Given the description of an element on the screen output the (x, y) to click on. 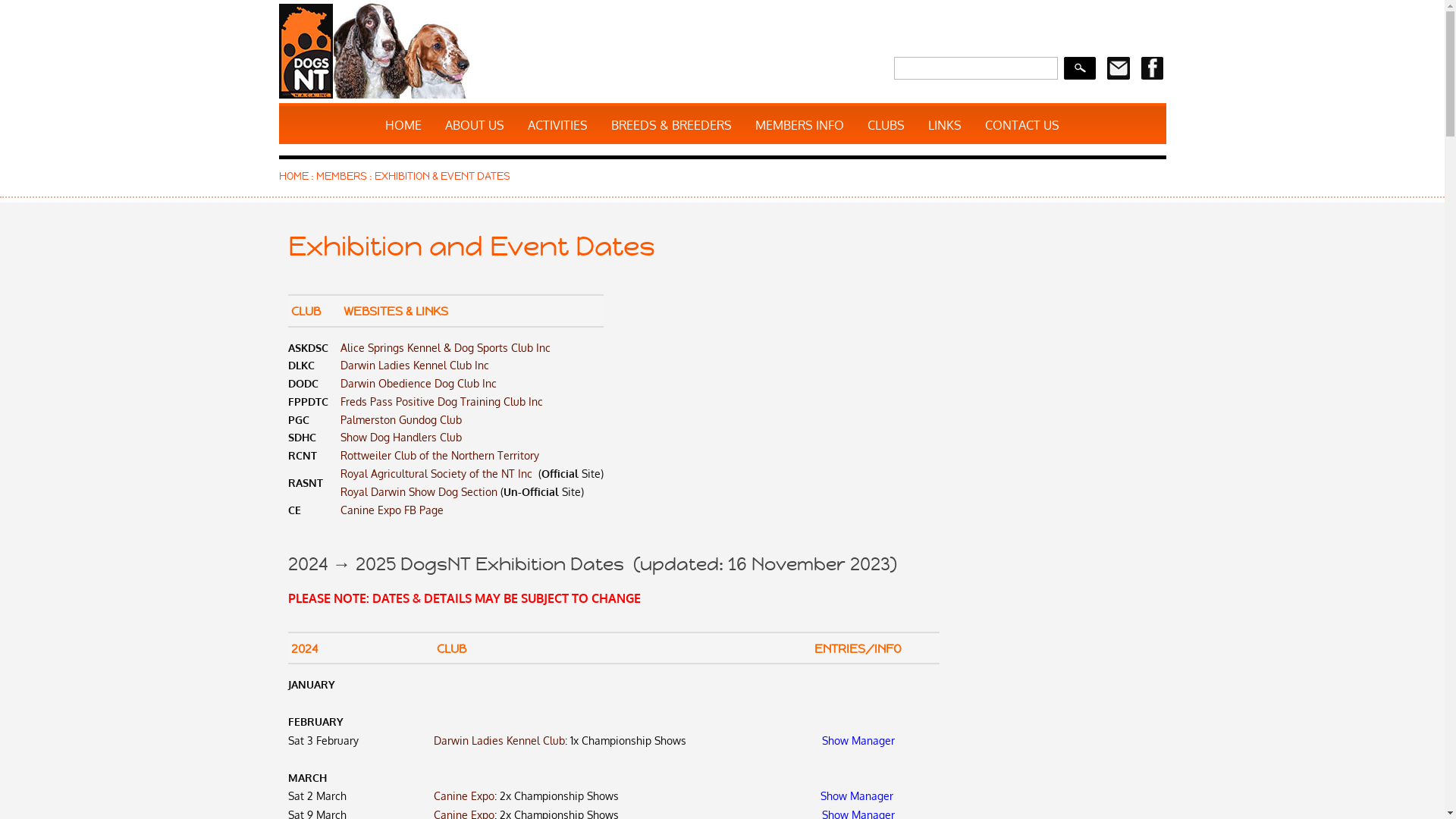
HOME Element type: text (403, 125)
Show Dog Handlers Club Element type: text (400, 436)
Royal Darwin Show Dog Section Element type: text (417, 491)
Alice Springs Kennel & Dog Sports Club Inc Element type: text (444, 347)
MEMBERS Element type: text (340, 175)
MEMBERS INFO Element type: text (799, 125)
Canine Expo Element type: text (463, 795)
HOME Element type: text (293, 175)
Freds Pass Positive Dog Training Club Inc Element type: text (440, 401)
LINKS Element type: text (944, 125)
BREEDS & BREEDERS Element type: text (671, 125)
Palmerston Gundog Club Element type: text (400, 419)
CONTACT US Element type: text (1021, 125)
Royal Agricultural Society of the NT Inc  Element type: text (436, 473)
Canine Expo FB Page Element type: text (390, 509)
Show Manager Element type: text (858, 740)
Show Manager Element type: text (856, 795)
Darwin Ladies Kennel Club Inc Element type: text (413, 364)
Rottweiler Club of the Northern Territory Element type: text (438, 454)
CLUBS Element type: text (885, 125)
ABOUT US Element type: text (474, 125)
Darwin Ladies Kennel Club Element type: text (498, 740)
Darwin Obedience Dog Club Inc Element type: text (417, 382)
ACTIVITIES Element type: text (557, 125)
